Given the description of an element on the screen output the (x, y) to click on. 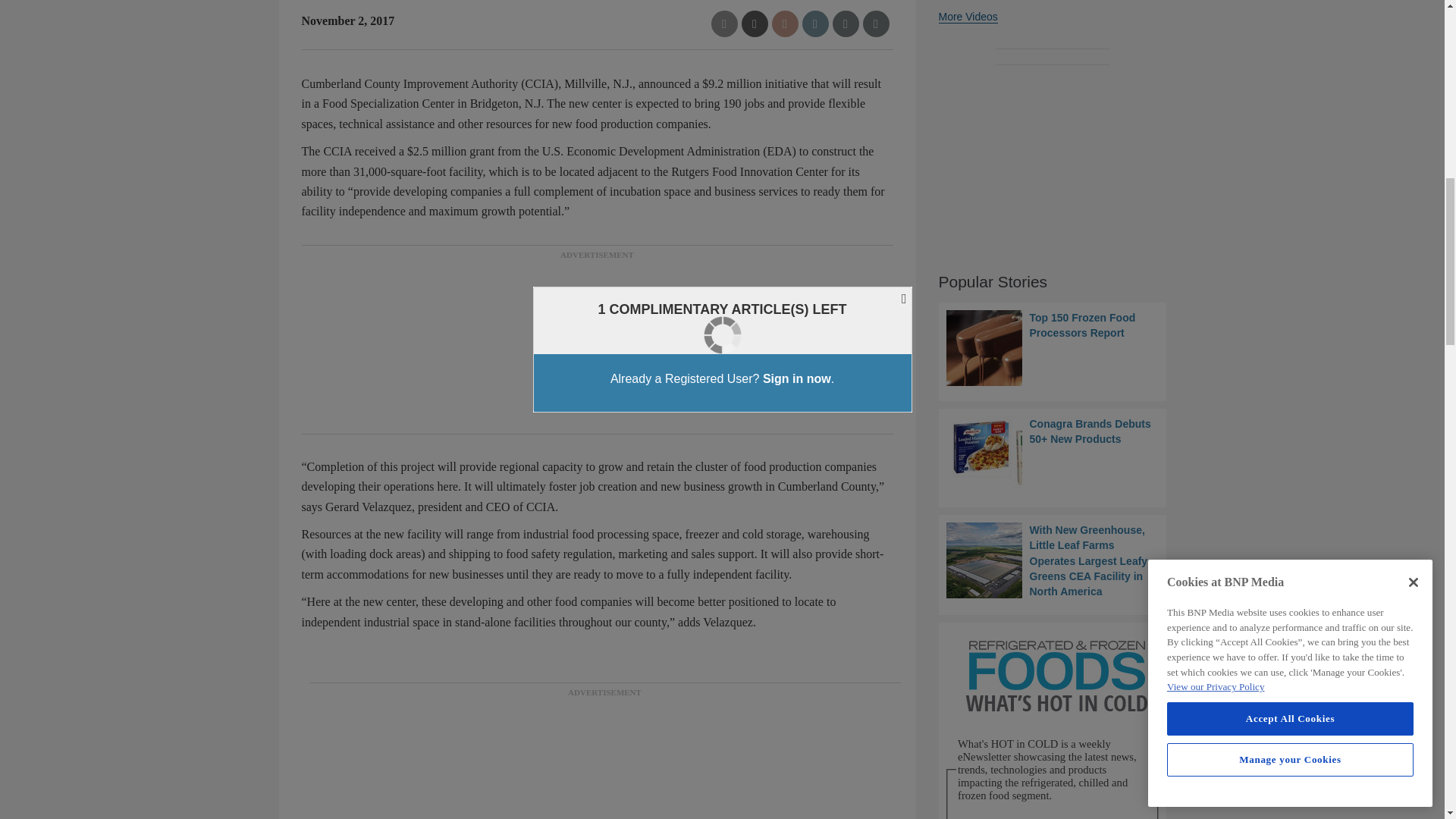
Interaction questions (1052, 720)
Top 150 Frozen Food Processors Report (1052, 347)
